Given the description of an element on the screen output the (x, y) to click on. 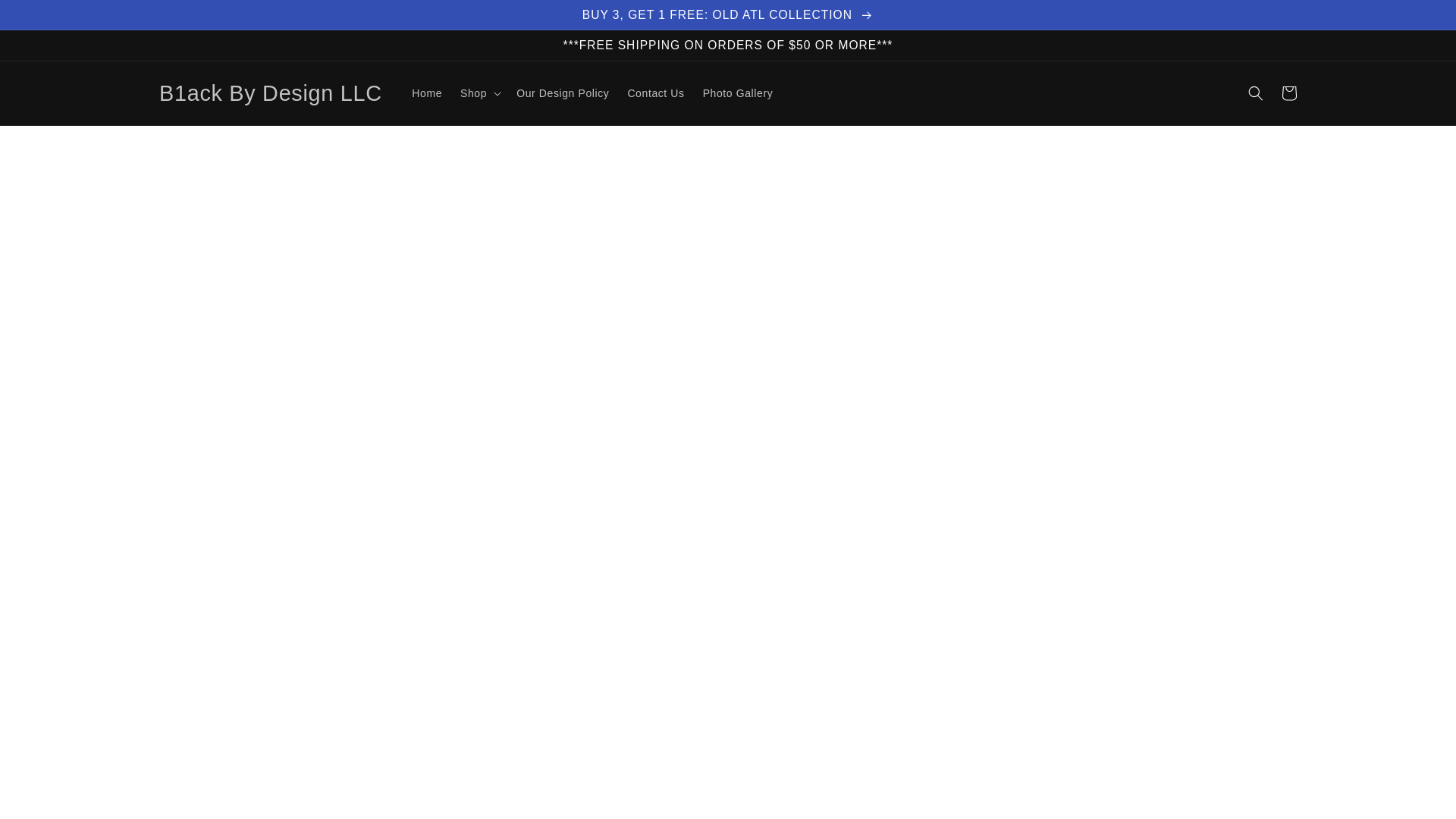
B1ack By Design LLC (269, 92)
Skip to content (45, 16)
Cart (1289, 92)
Home (427, 92)
Photo Gallery (738, 92)
Contact Us (655, 92)
Our Design Policy (561, 92)
